Given the description of an element on the screen output the (x, y) to click on. 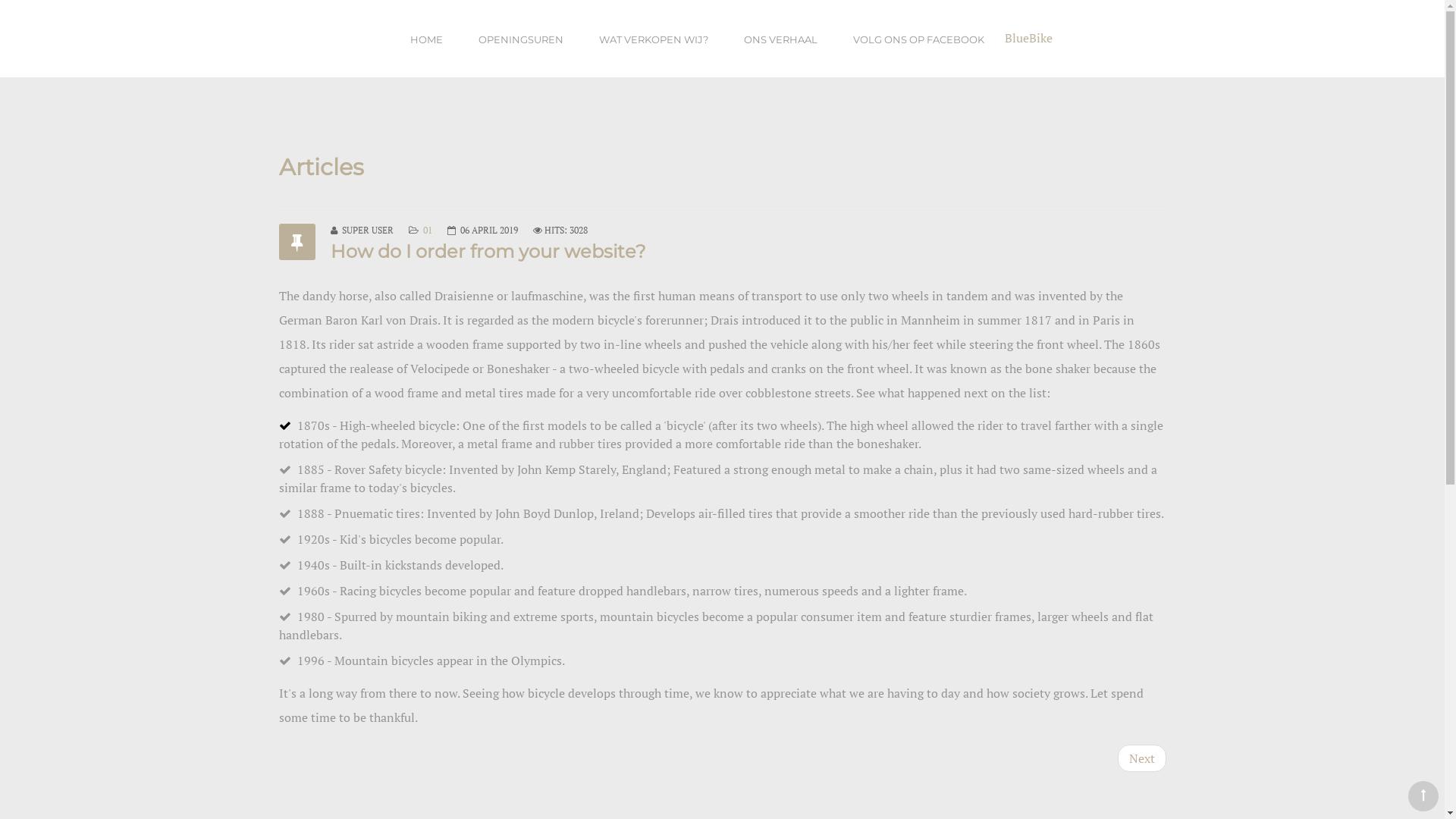
HOME Element type: text (426, 39)
01 Element type: text (427, 229)
ONS VERHAAL Element type: text (780, 39)
VOLG ONS OP FACEBOOK Element type: text (918, 39)
Next Element type: text (1141, 757)
WAT VERKOPEN WIJ? Element type: text (653, 39)
BlueBike Element type: text (1028, 37)
OPENINGSUREN Element type: text (520, 39)
